Given the description of an element on the screen output the (x, y) to click on. 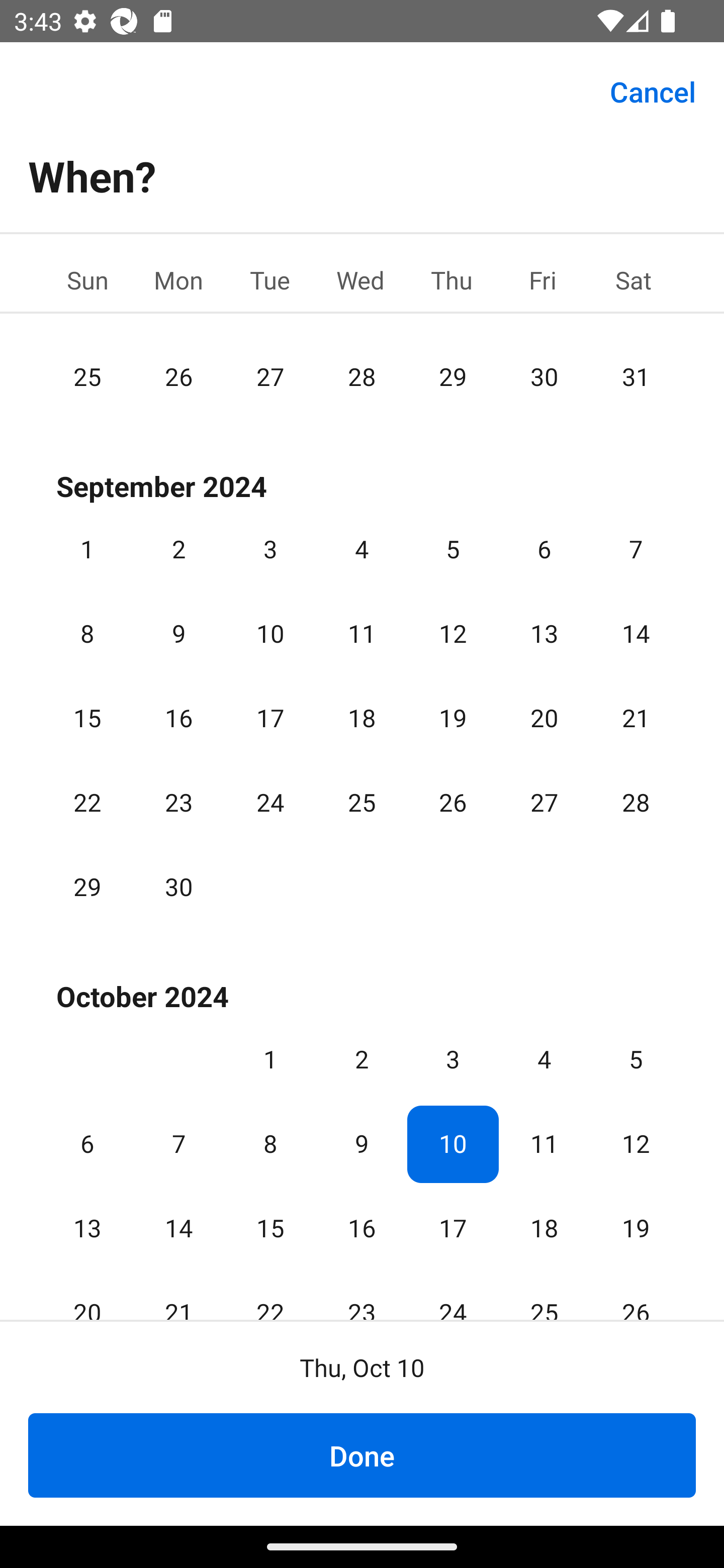
Cancel (652, 90)
Done (361, 1454)
